Given the description of an element on the screen output the (x, y) to click on. 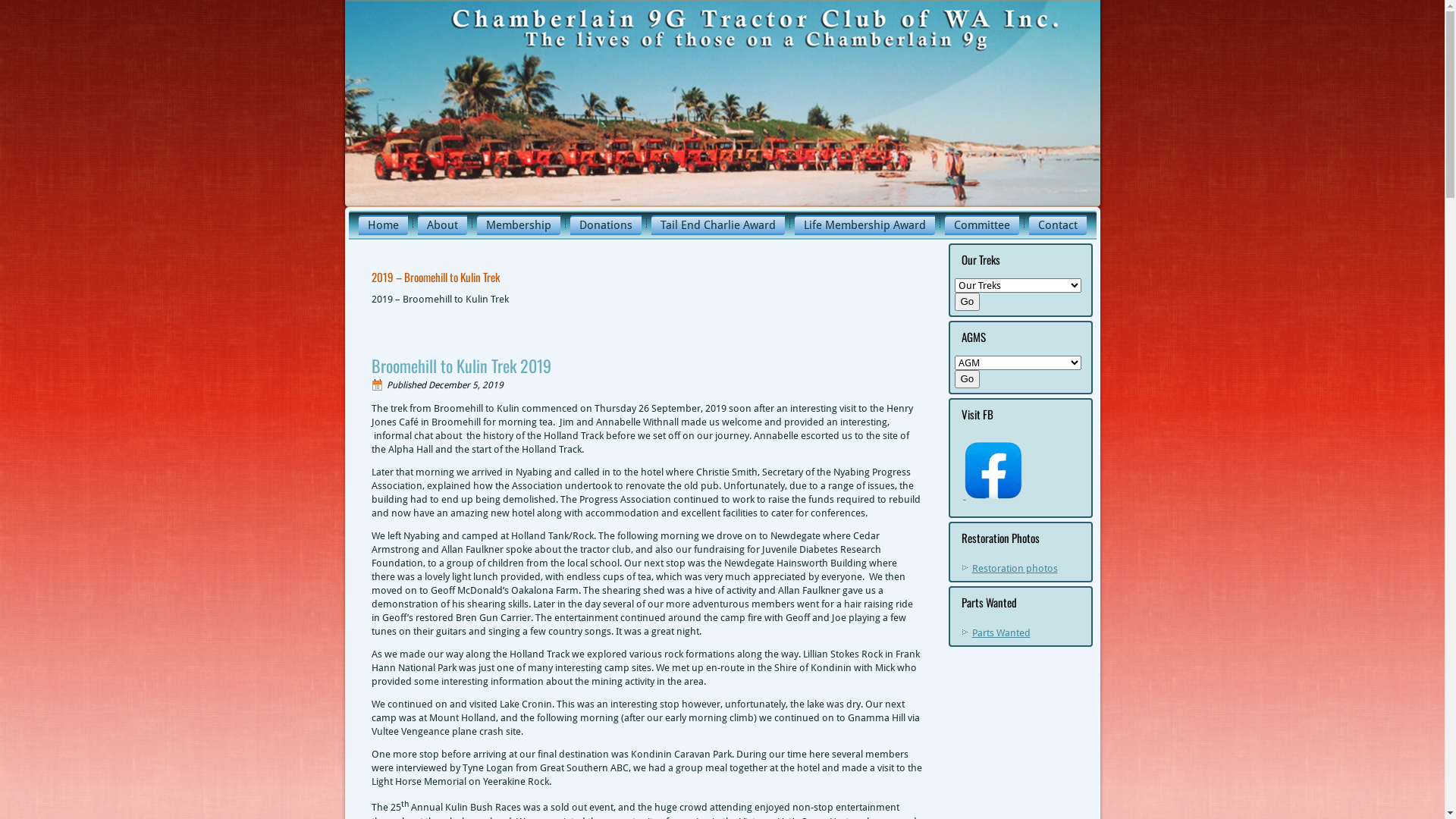
Membership Element type: text (517, 225)
Go Element type: text (966, 301)
About Element type: text (441, 225)
Home Element type: text (382, 225)
Broomehill to Kulin Trek 2019 Element type: text (461, 365)
Visit FB Element type: hover (991, 470)
Committee Element type: text (981, 225)
Tail End Charlie Award Element type: text (717, 225)
Restoration photos Element type: text (1014, 568)
Contact Element type: text (1056, 225)
Go Element type: text (966, 379)
Donations Element type: text (605, 225)
Parts Wanted Element type: text (1001, 632)
Life Membership Award Element type: text (864, 225)
